Given the description of an element on the screen output the (x, y) to click on. 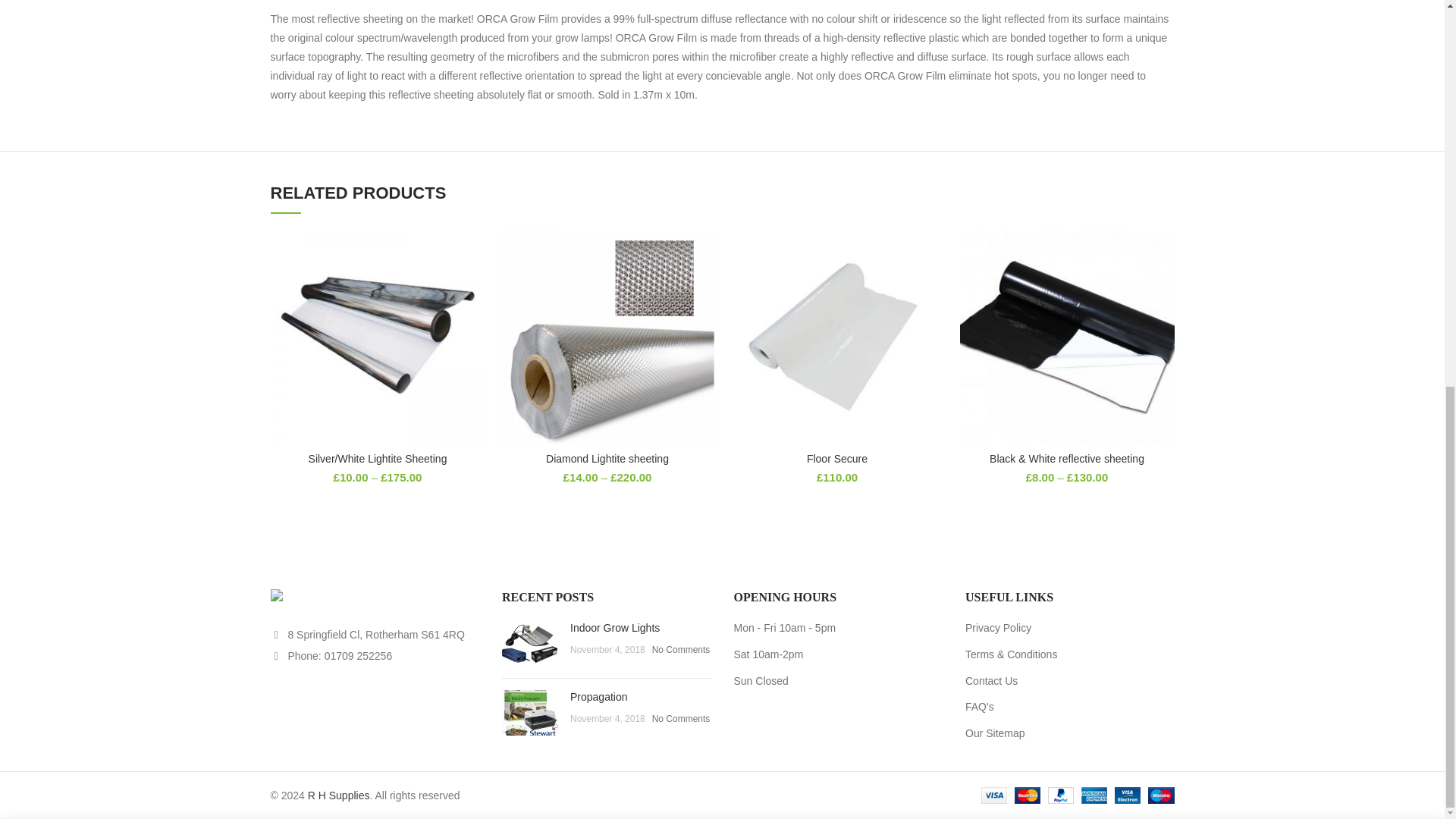
Permalink to Propagation (598, 696)
EuroTwinRefAll (530, 643)
Permalink to Indoor Grow Lights (614, 627)
